Given the description of an element on the screen output the (x, y) to click on. 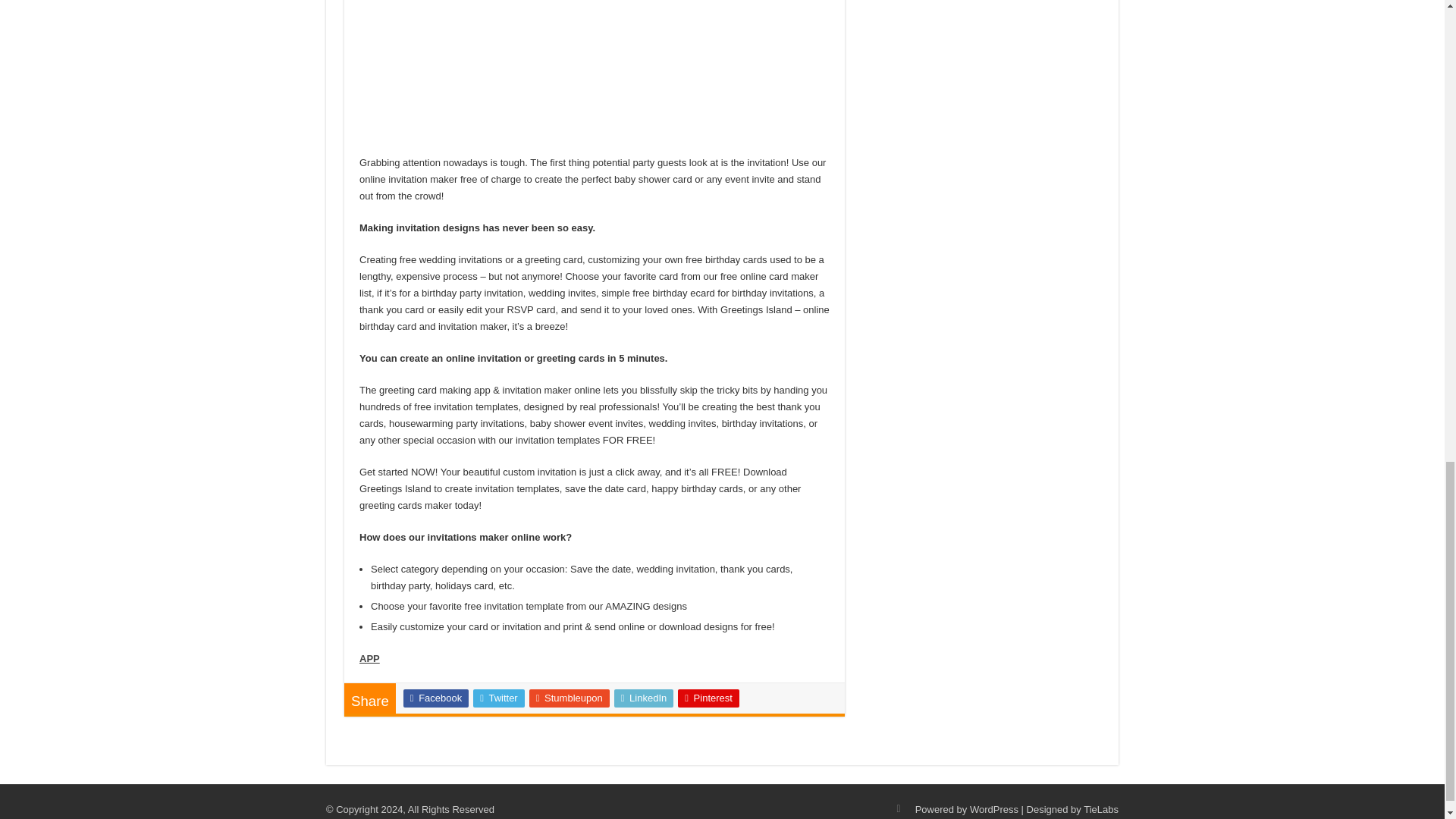
Twitter (498, 698)
Facebook (435, 698)
APP (369, 658)
Stumbleupon (569, 698)
